Given the description of an element on the screen output the (x, y) to click on. 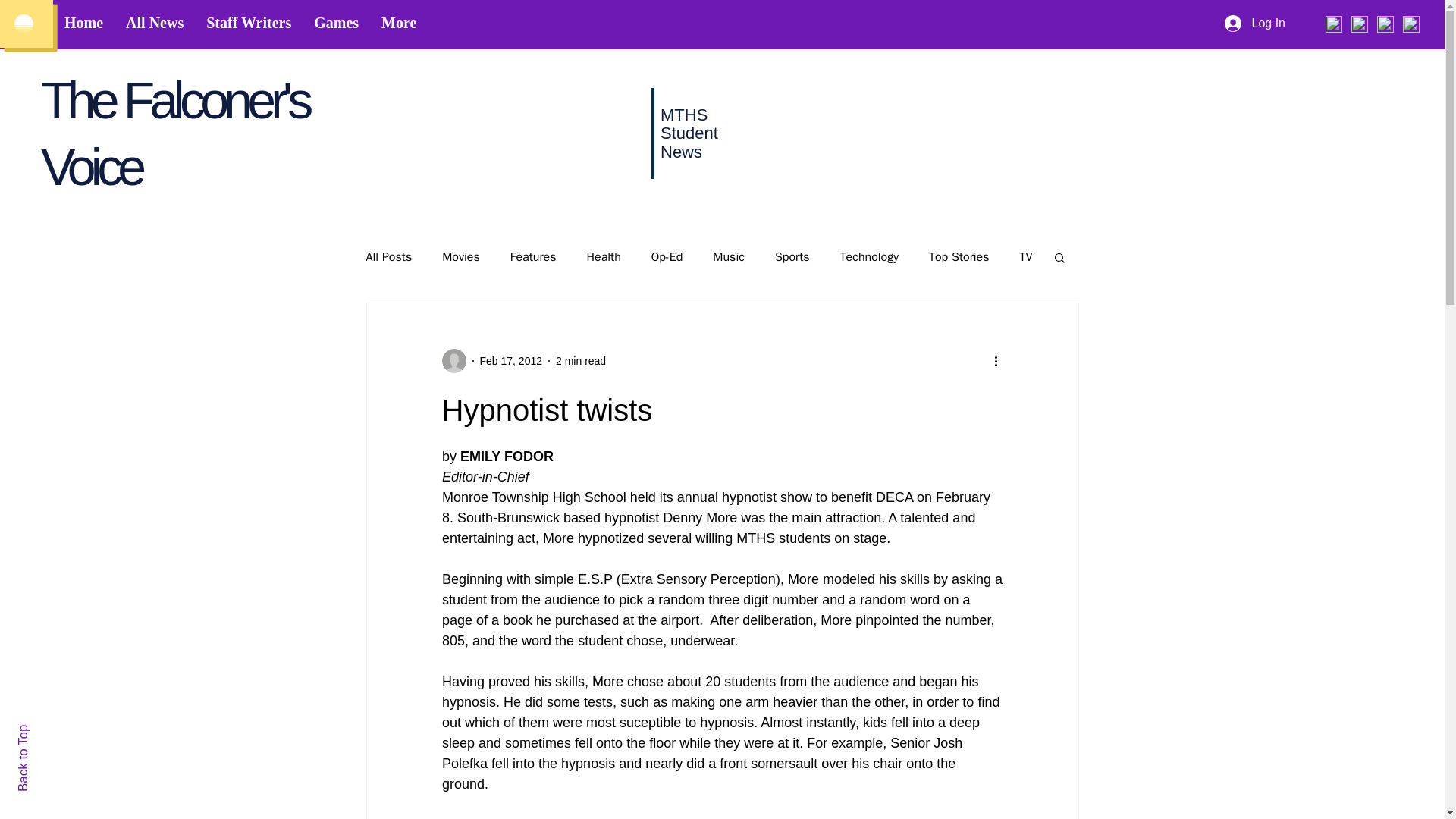
The Falconer's (173, 99)
Music (728, 256)
Health (603, 256)
Voice (90, 166)
Home (83, 25)
Staff Writers (248, 25)
Technology (869, 256)
All News (155, 25)
Top Stories (959, 256)
Sports (791, 256)
